Given the description of an element on the screen output the (x, y) to click on. 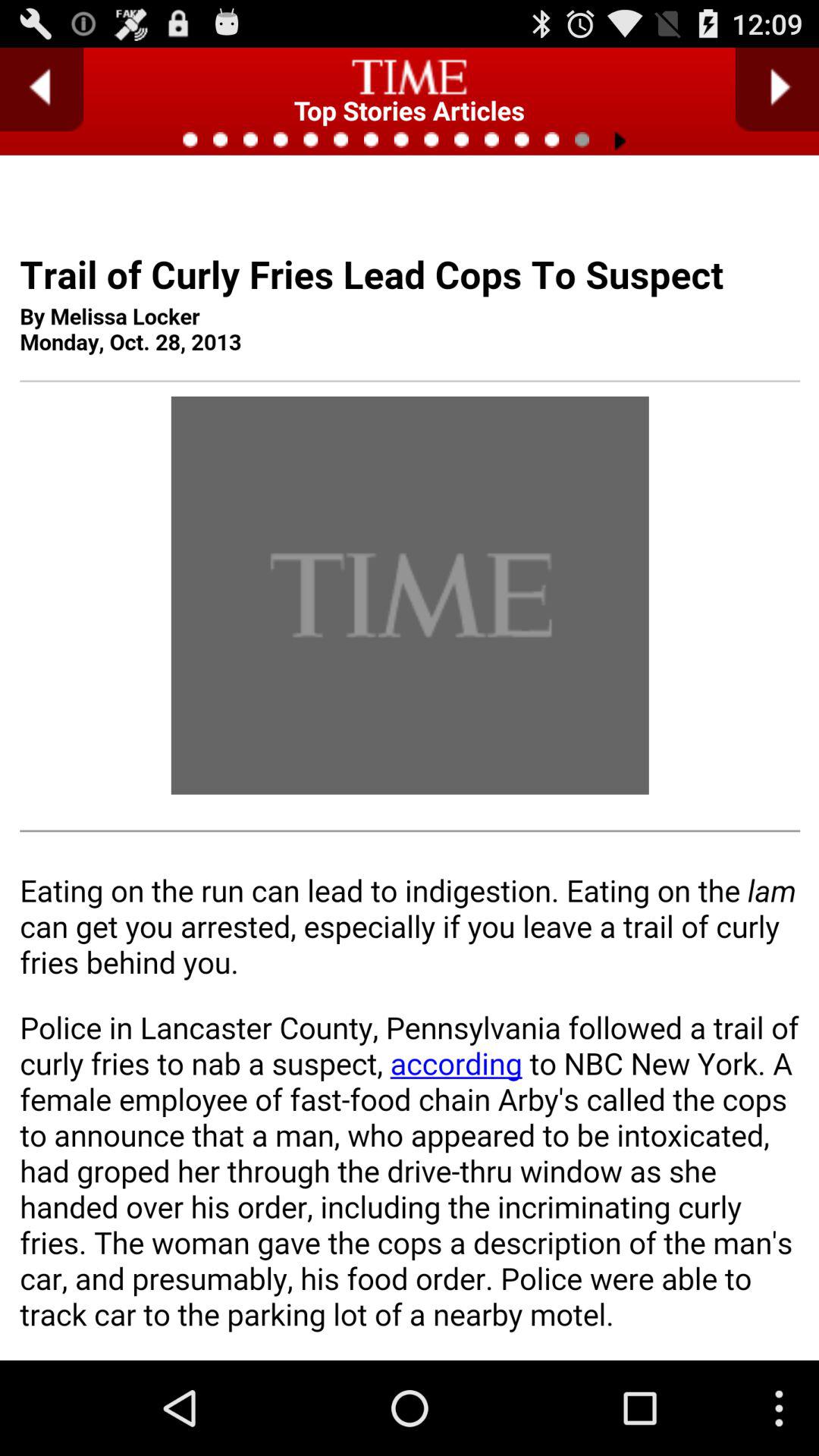
next bage (777, 89)
